Given the description of an element on the screen output the (x, y) to click on. 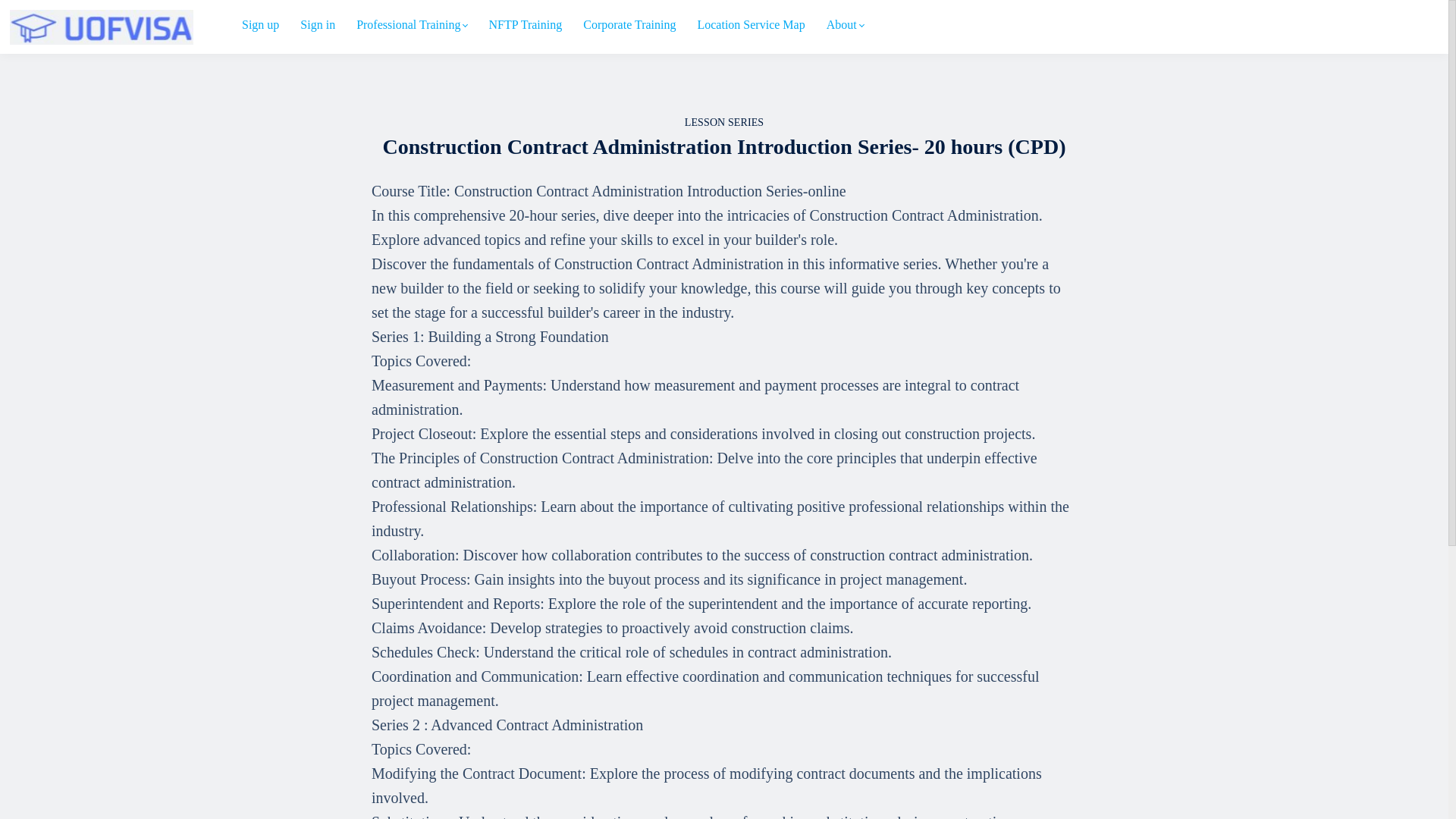
Location Service Map (751, 25)
NFTP Training (524, 25)
Sign up (260, 25)
Professional Training (411, 25)
Corporate Training (629, 25)
Sign in (316, 25)
About (845, 25)
